Given the description of an element on the screen output the (x, y) to click on. 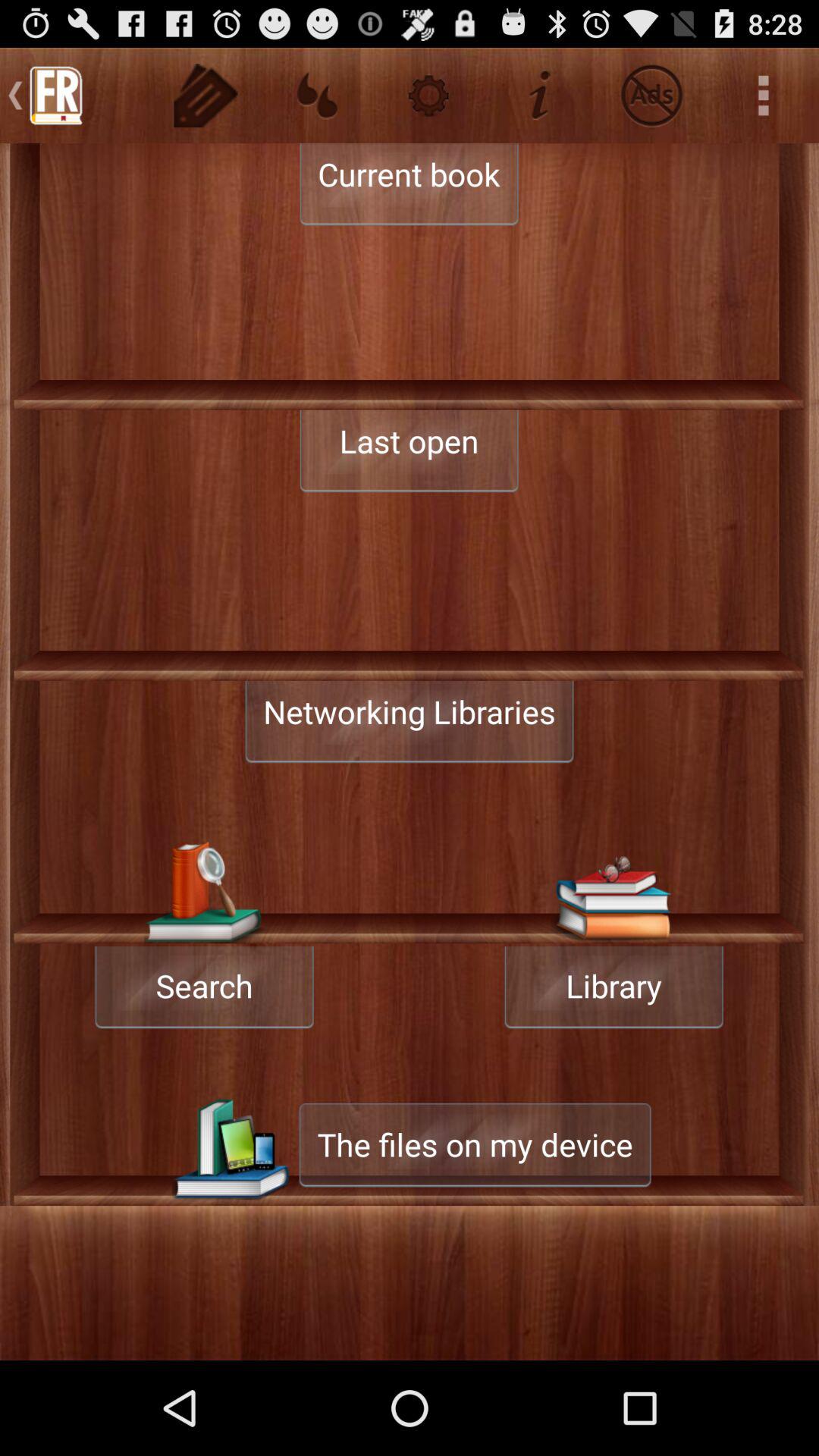
click the left of setting icon (317, 95)
go to three dots on top right of page (763, 95)
